Given the description of an element on the screen output the (x, y) to click on. 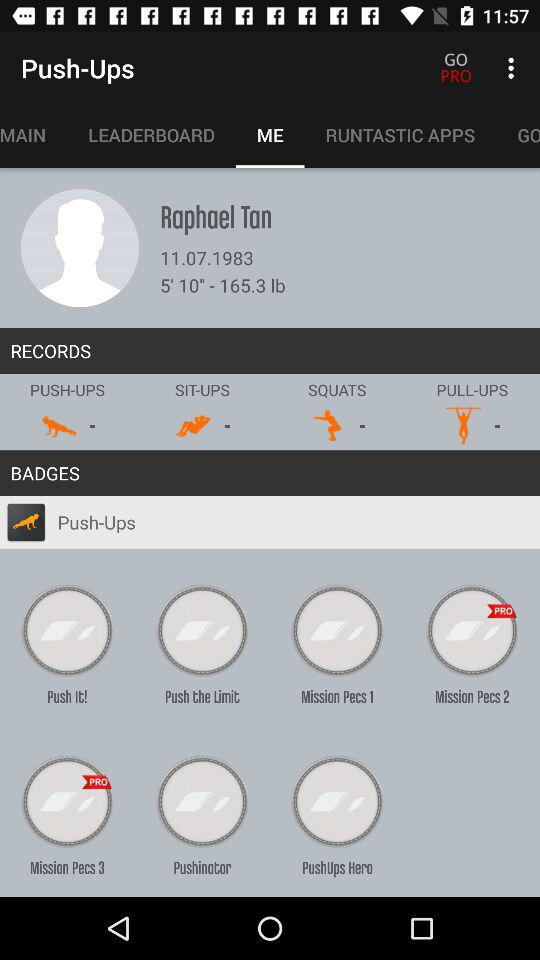
change profile picture (80, 248)
